Given the description of an element on the screen output the (x, y) to click on. 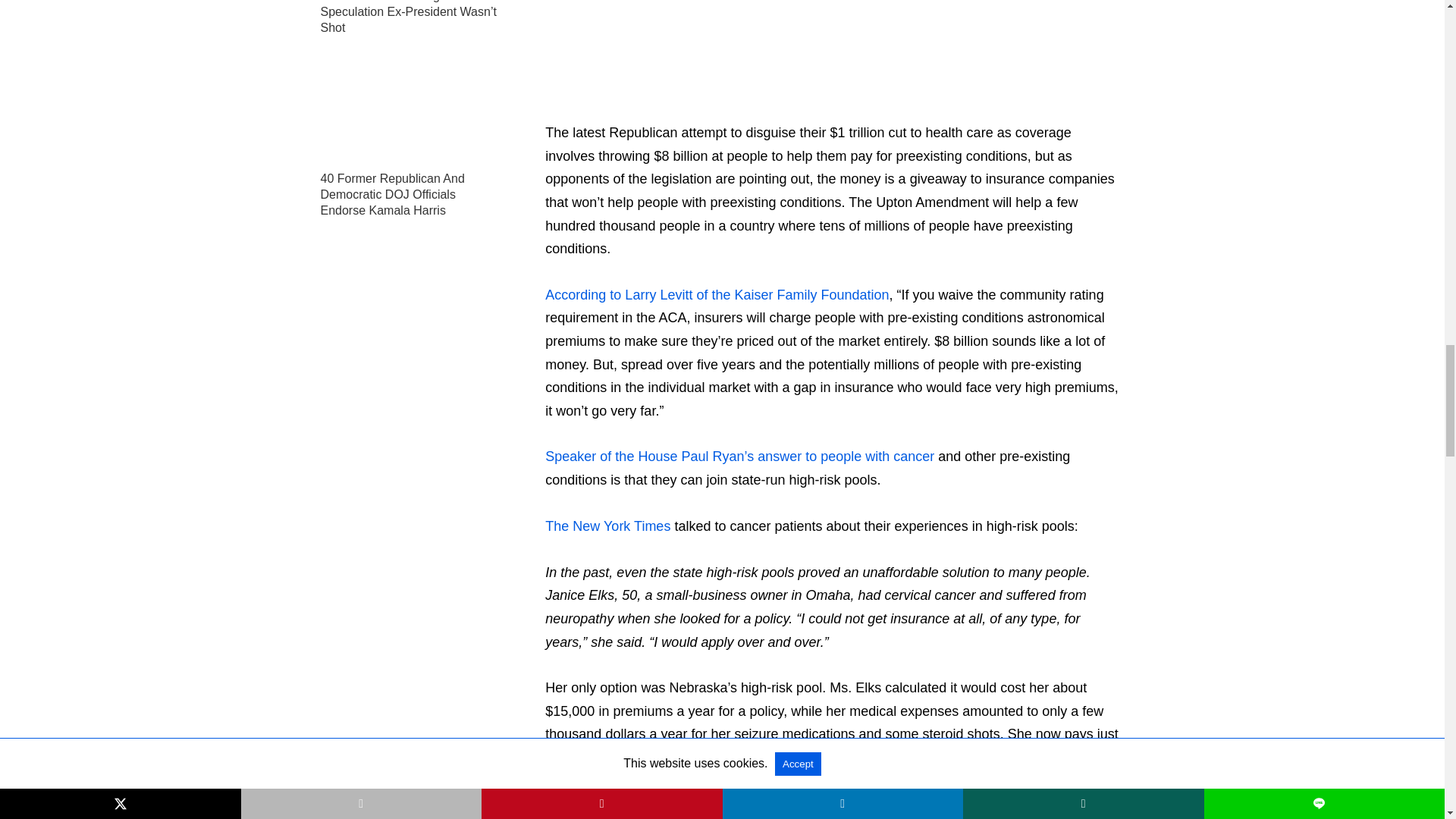
The New York Times (606, 525)
According to Larry Levitt of the Kaiser Family Foundation (716, 294)
